Given the description of an element on the screen output the (x, y) to click on. 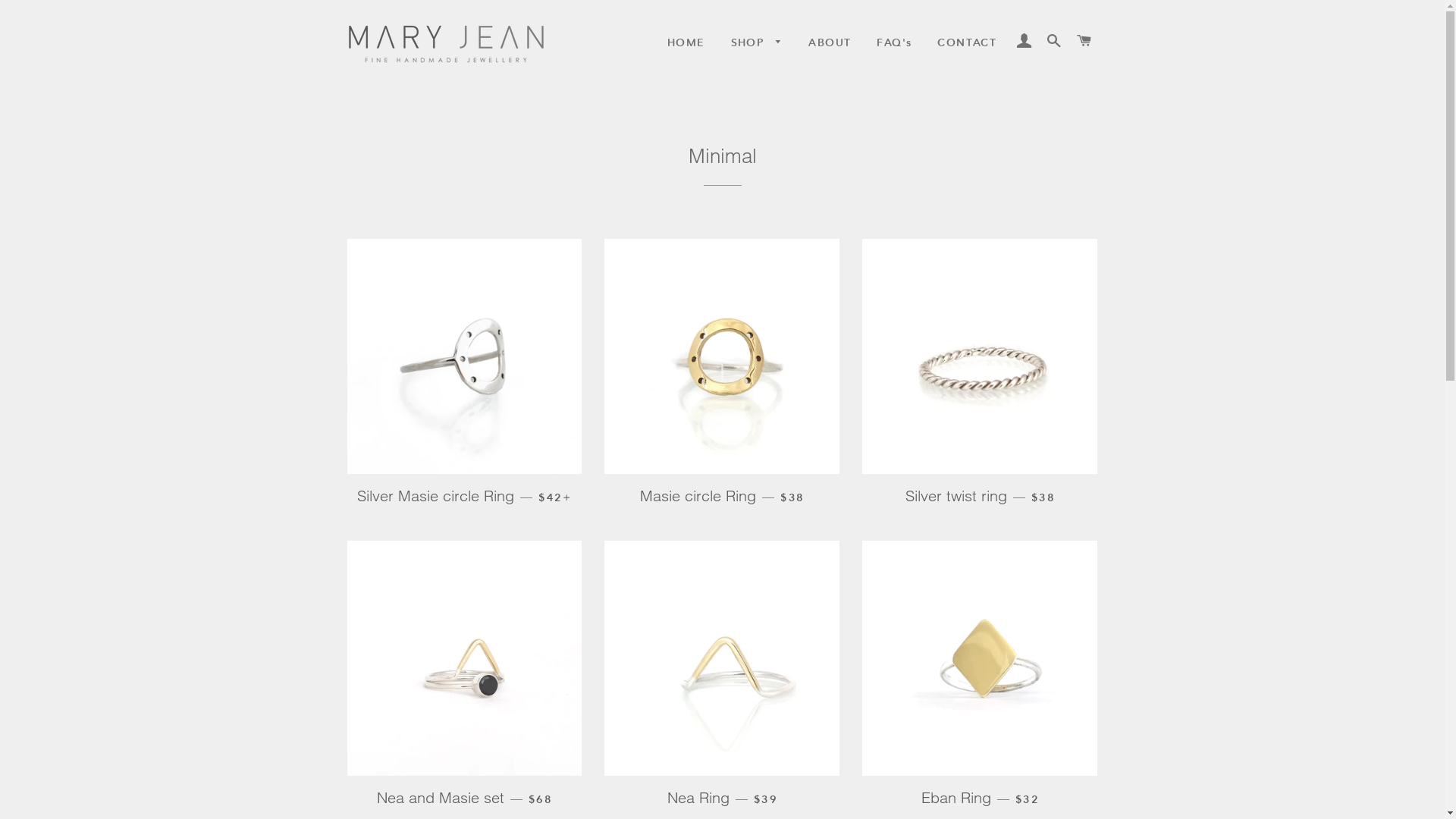
Search Element type: text (1054, 40)
SHOP Element type: text (756, 42)
FAQ's Element type: text (893, 42)
Cart Element type: text (1083, 40)
Log In Element type: text (1023, 40)
ABOUT Element type: text (829, 42)
HOME Element type: text (685, 42)
CONTACT Element type: text (966, 42)
